Given the description of an element on the screen output the (x, y) to click on. 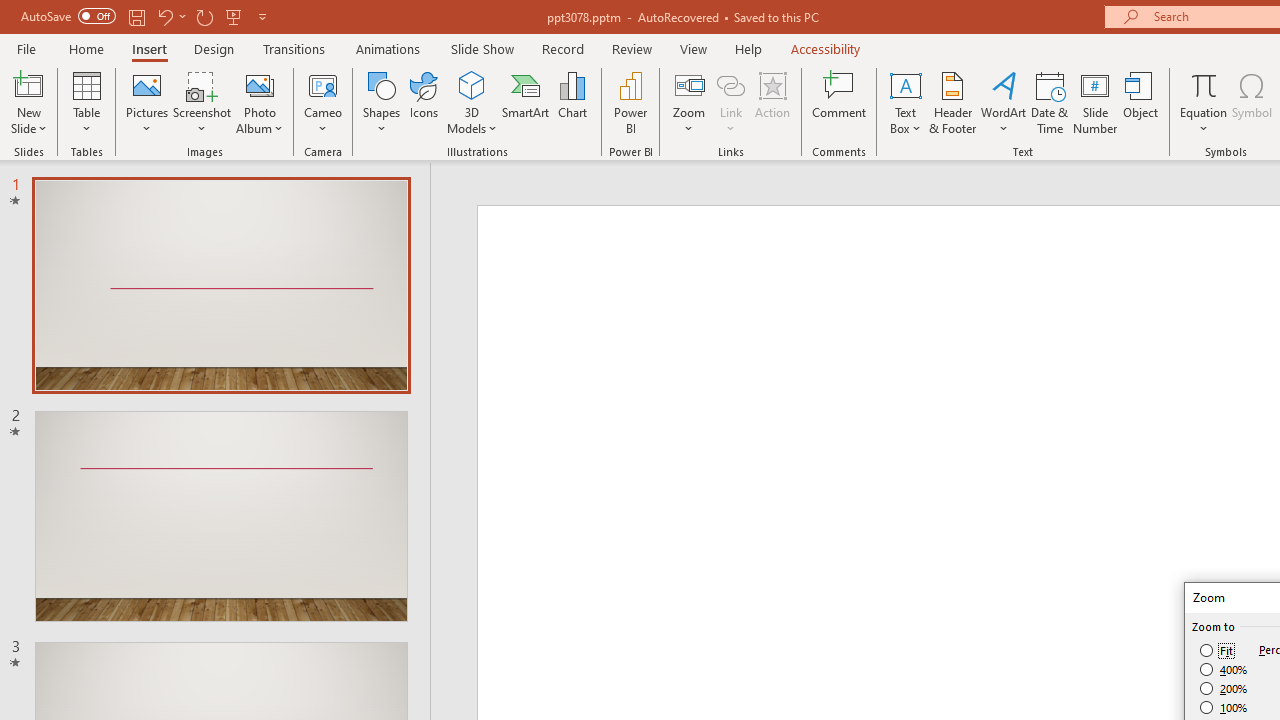
New Photo Album... (259, 84)
Icons (424, 102)
Slide Number (1095, 102)
WordArt (1004, 102)
